Given the description of an element on the screen output the (x, y) to click on. 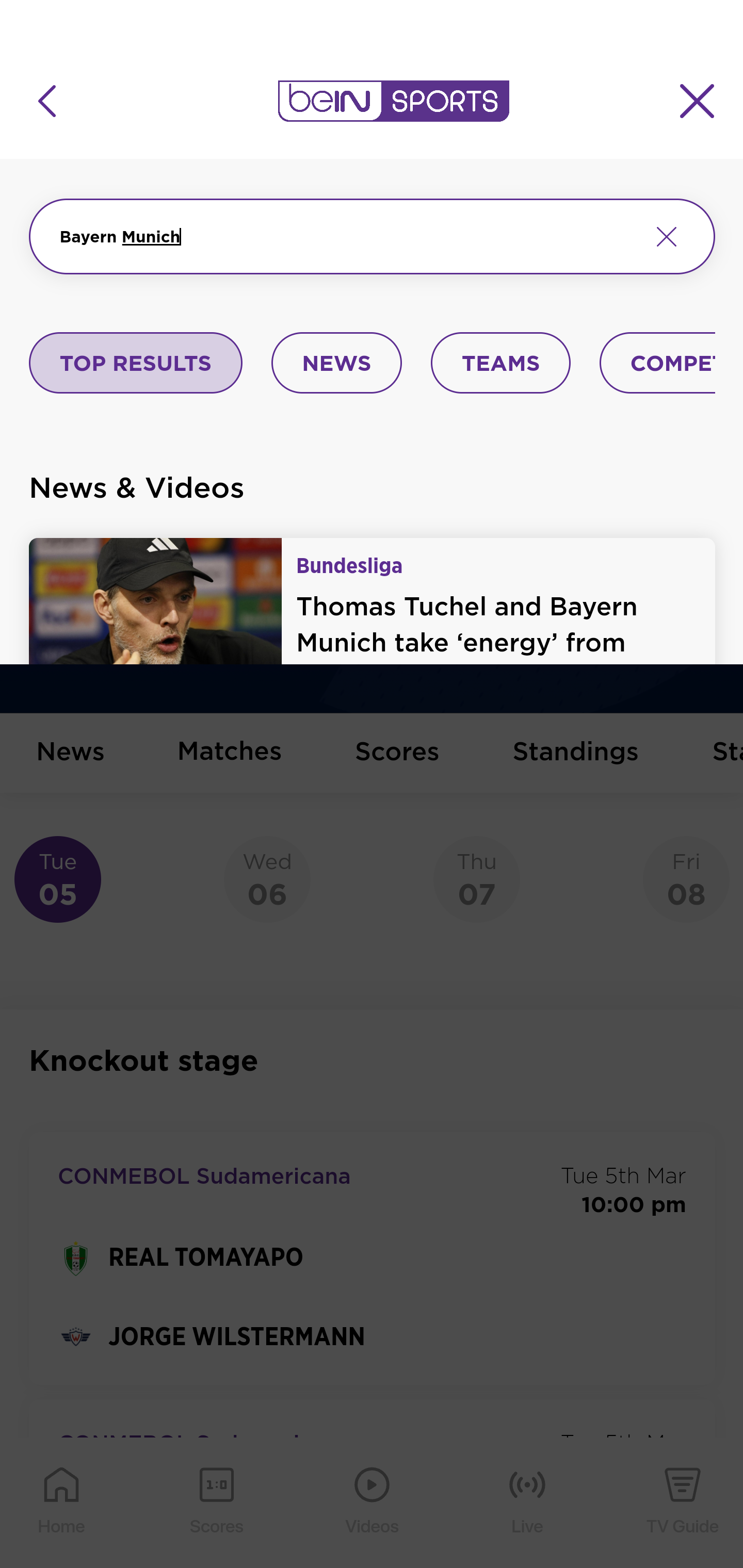
en-us?platform=mobile_android bein logo (392, 101)
icon back (46, 101)
Close Menu Icon (697, 101)
TOP RESULTS (135, 363)
NEWS (336, 363)
TEAMS (500, 363)
COMPETITIONS (657, 363)
